Given the description of an element on the screen output the (x, y) to click on. 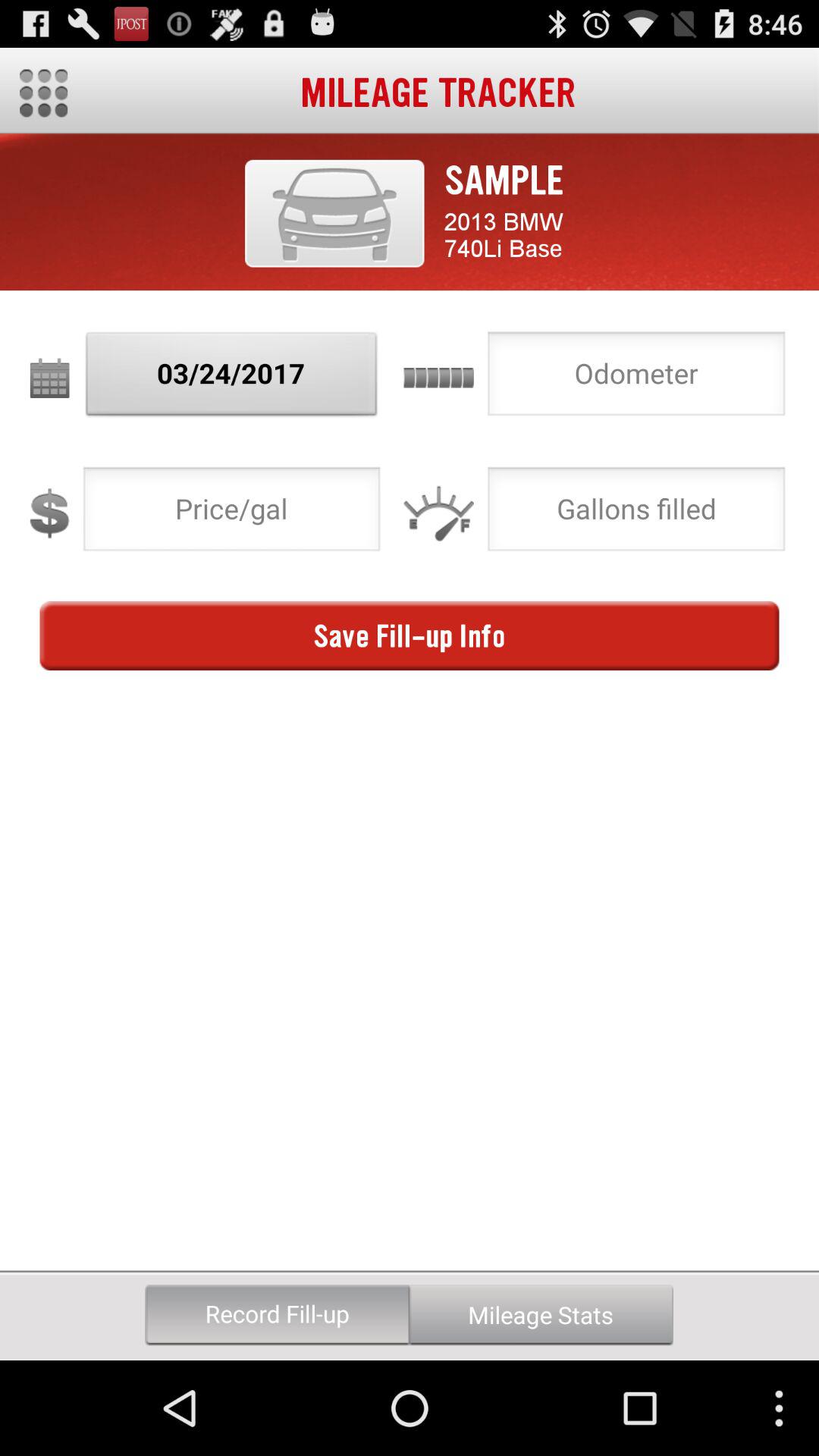
tap icon to the left of the mileage tracker (43, 93)
